Given the description of an element on the screen output the (x, y) to click on. 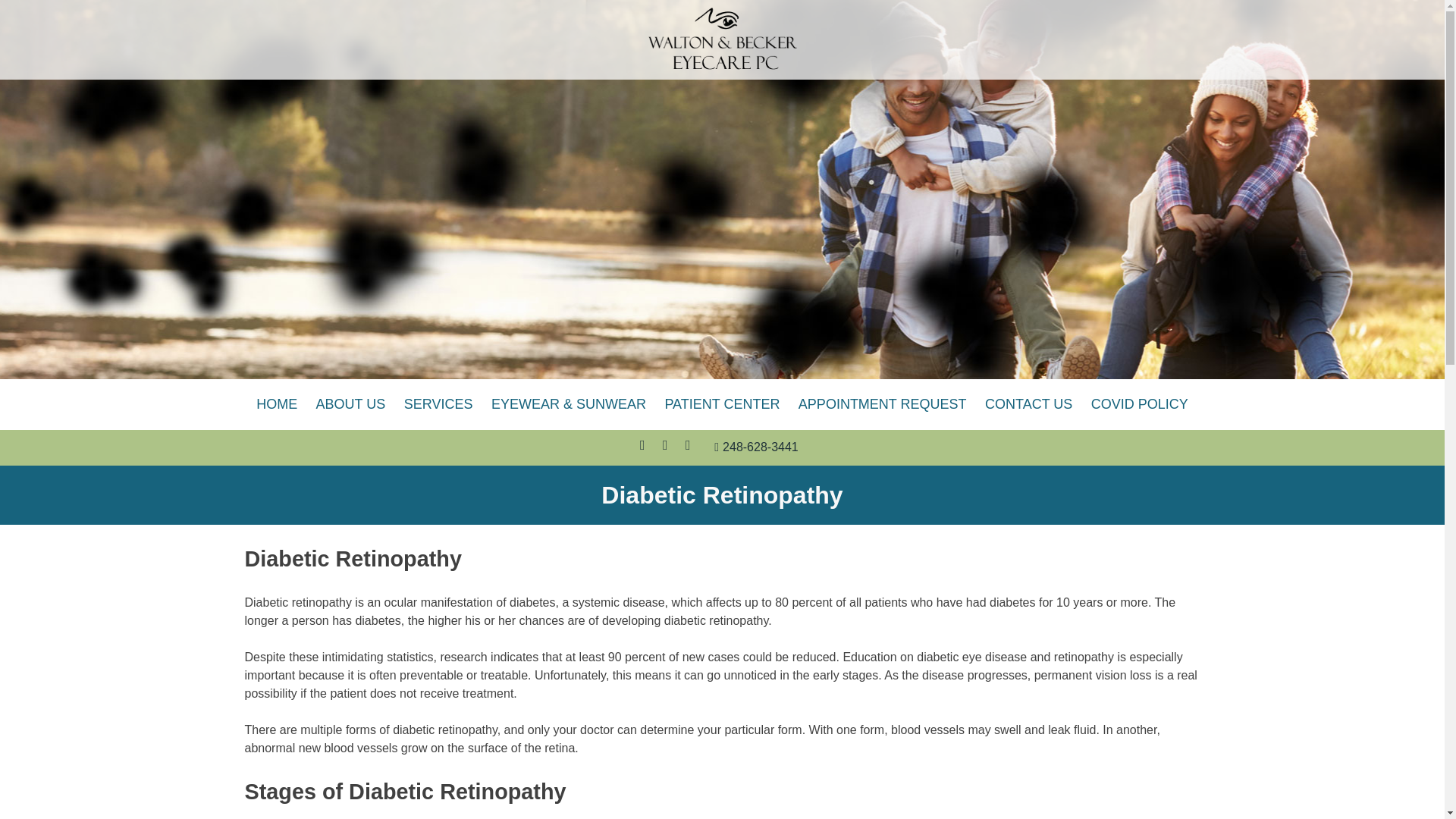
SERVICES (438, 404)
HOME (276, 404)
COVID POLICY (1139, 404)
248-628-3441 (755, 446)
ABOUT US (350, 404)
CONTACT US (1028, 404)
PATIENT CENTER (721, 404)
APPOINTMENT REQUEST (882, 404)
